Given the description of an element on the screen output the (x, y) to click on. 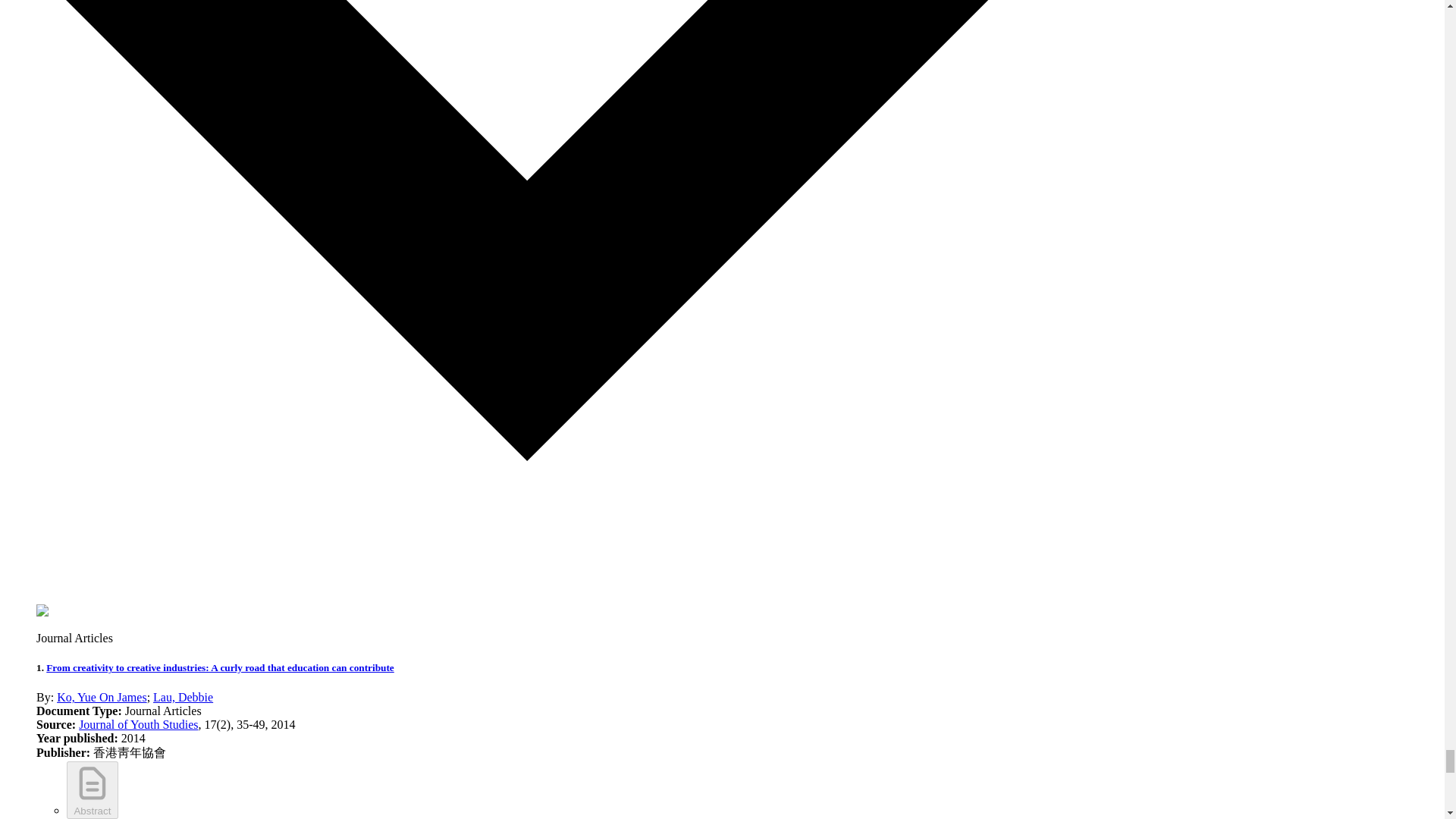
Ko, Yue On James (101, 697)
Journal of Youth Studies (138, 724)
Lau, Debbie (182, 697)
Abstract (91, 790)
